Given the description of an element on the screen output the (x, y) to click on. 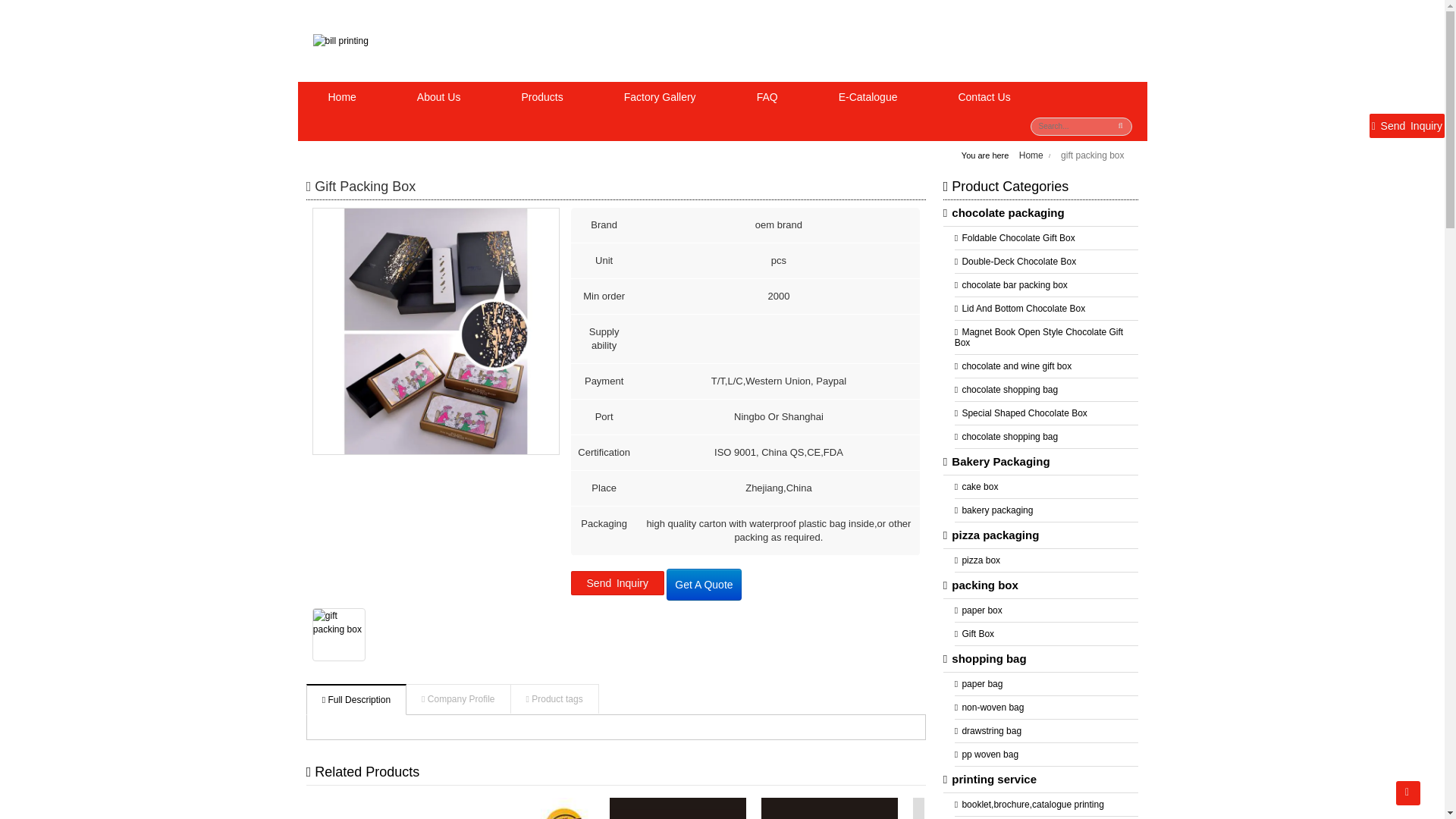
About Us (439, 96)
Home (341, 96)
logo (340, 40)
Products (541, 96)
